Given the description of an element on the screen output the (x, y) to click on. 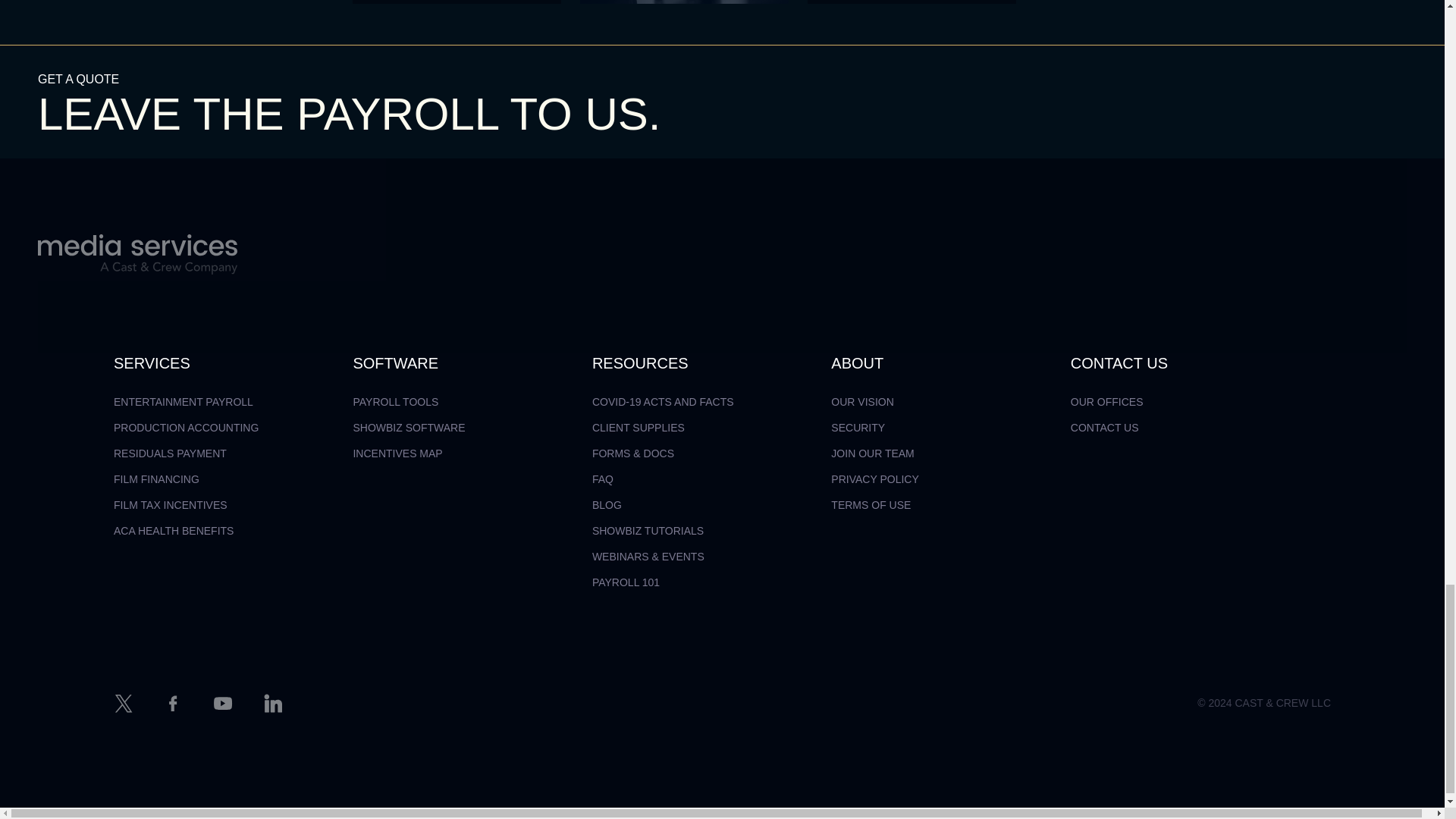
MediaWeb: Simplified Production Accounting (456, 2)
VFX for Independent Filmmakers: Movie Magic on a Budget (912, 2)
